Given the description of an element on the screen output the (x, y) to click on. 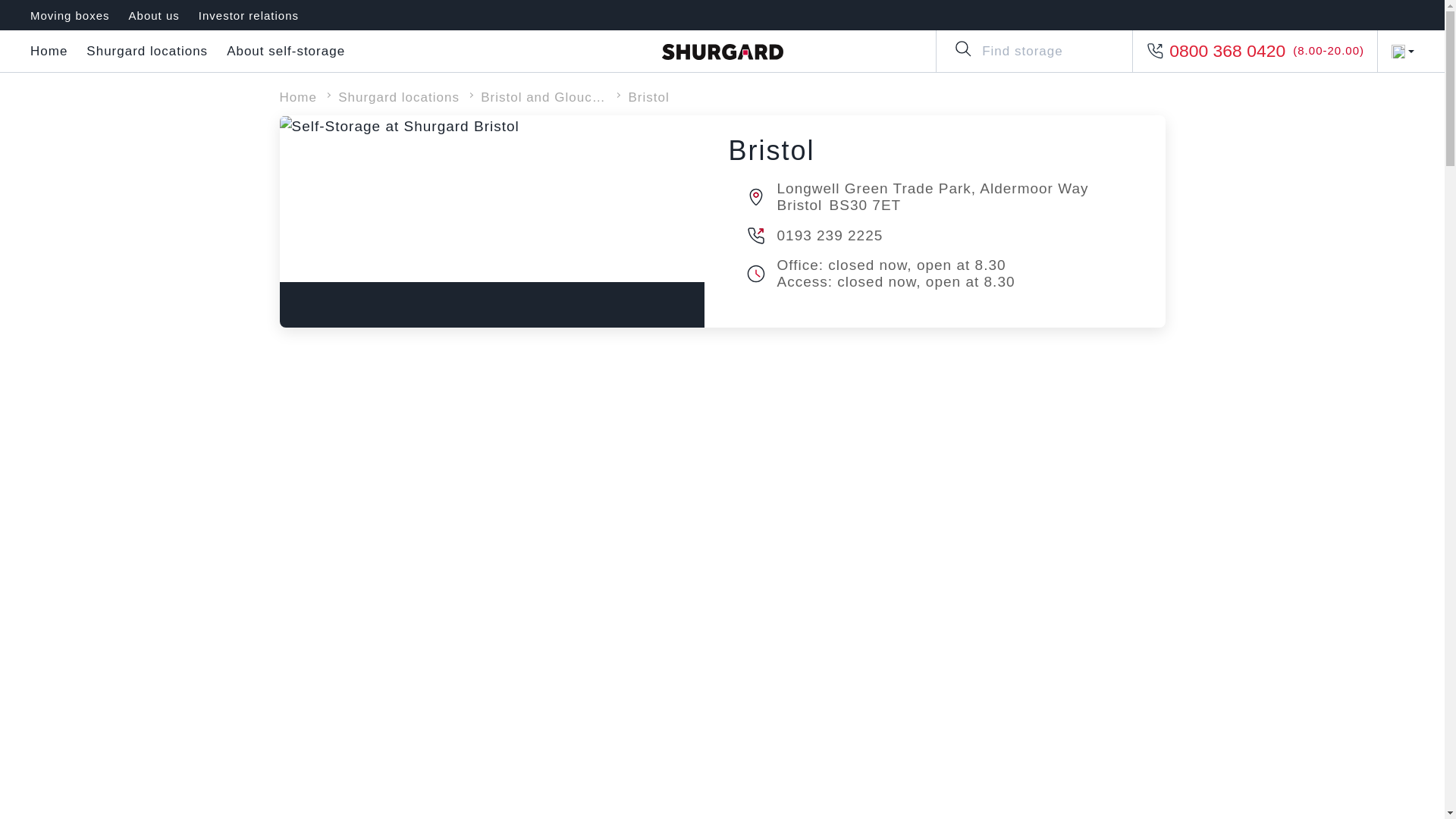
Investor relations (248, 15)
Access: closed now, open at 8.30 (955, 281)
Office: closed now, open at 8.30 (955, 265)
Shurgard locations (146, 51)
Moving boxes (70, 15)
About us (154, 15)
About self-storage (286, 51)
